Given the description of an element on the screen output the (x, y) to click on. 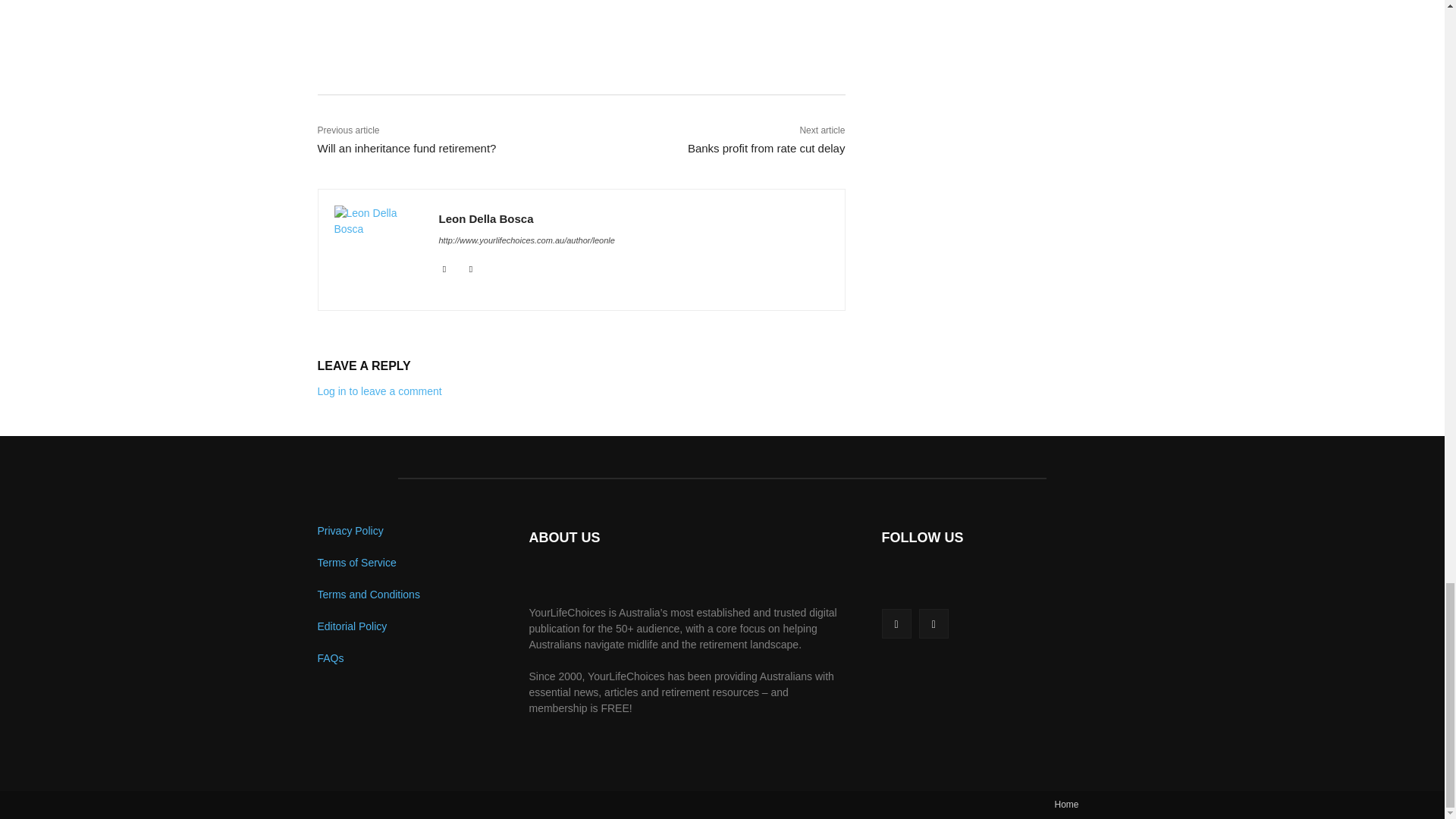
Twitter (471, 266)
Linkedin (443, 266)
Leon Della Bosca (377, 249)
